Given the description of an element on the screen output the (x, y) to click on. 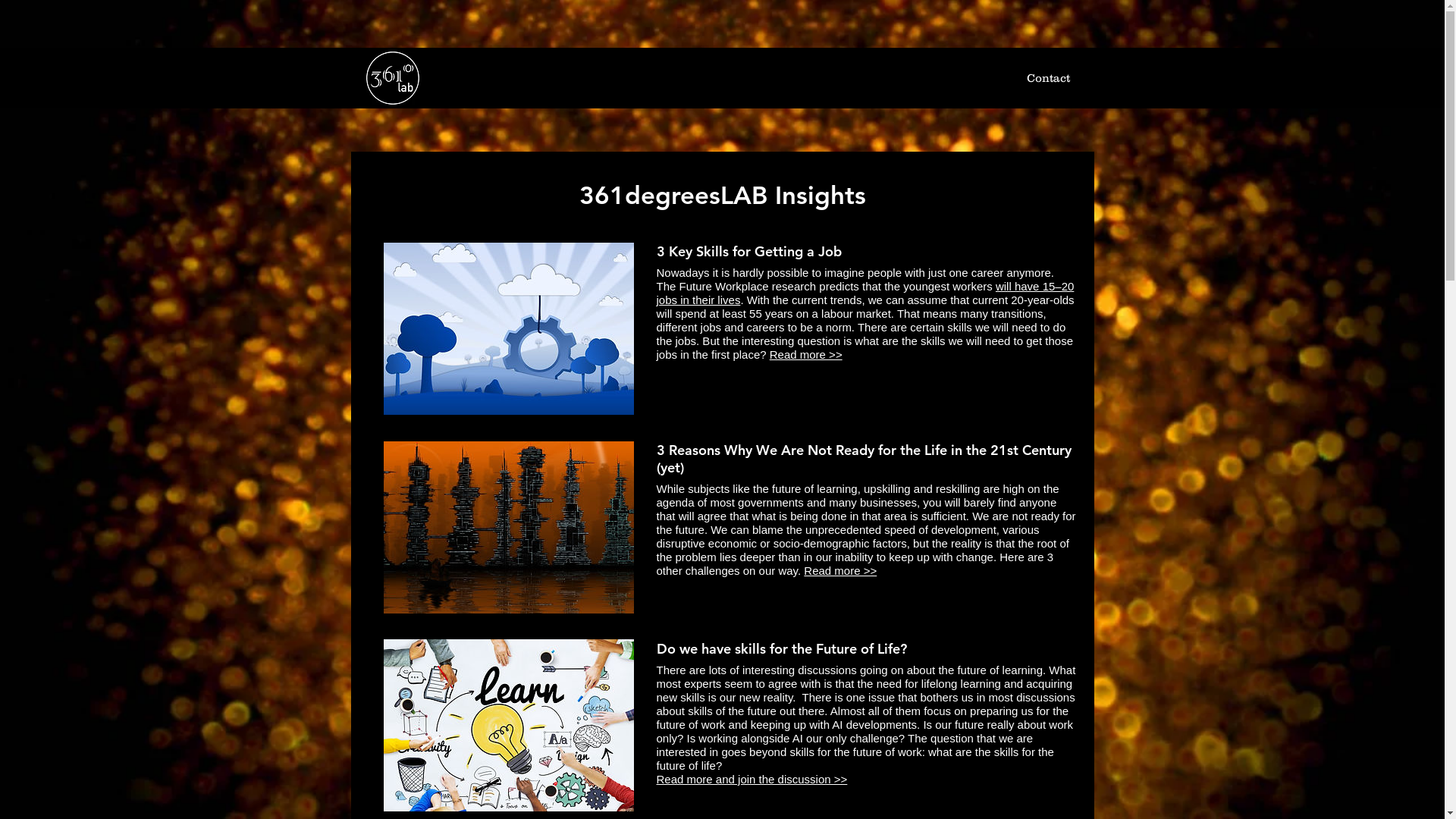
Read more and join the discussion >> Element type: text (751, 778)
361degreesLAB Insights Element type: text (722, 194)
Contact Element type: text (1047, 77)
Read more >> Element type: text (805, 354)
3 skills to get the Jobs of the Future Element type: hover (508, 328)
Read more >> Element type: text (839, 570)
Future of life Element type: hover (508, 527)
